Given the description of an element on the screen output the (x, y) to click on. 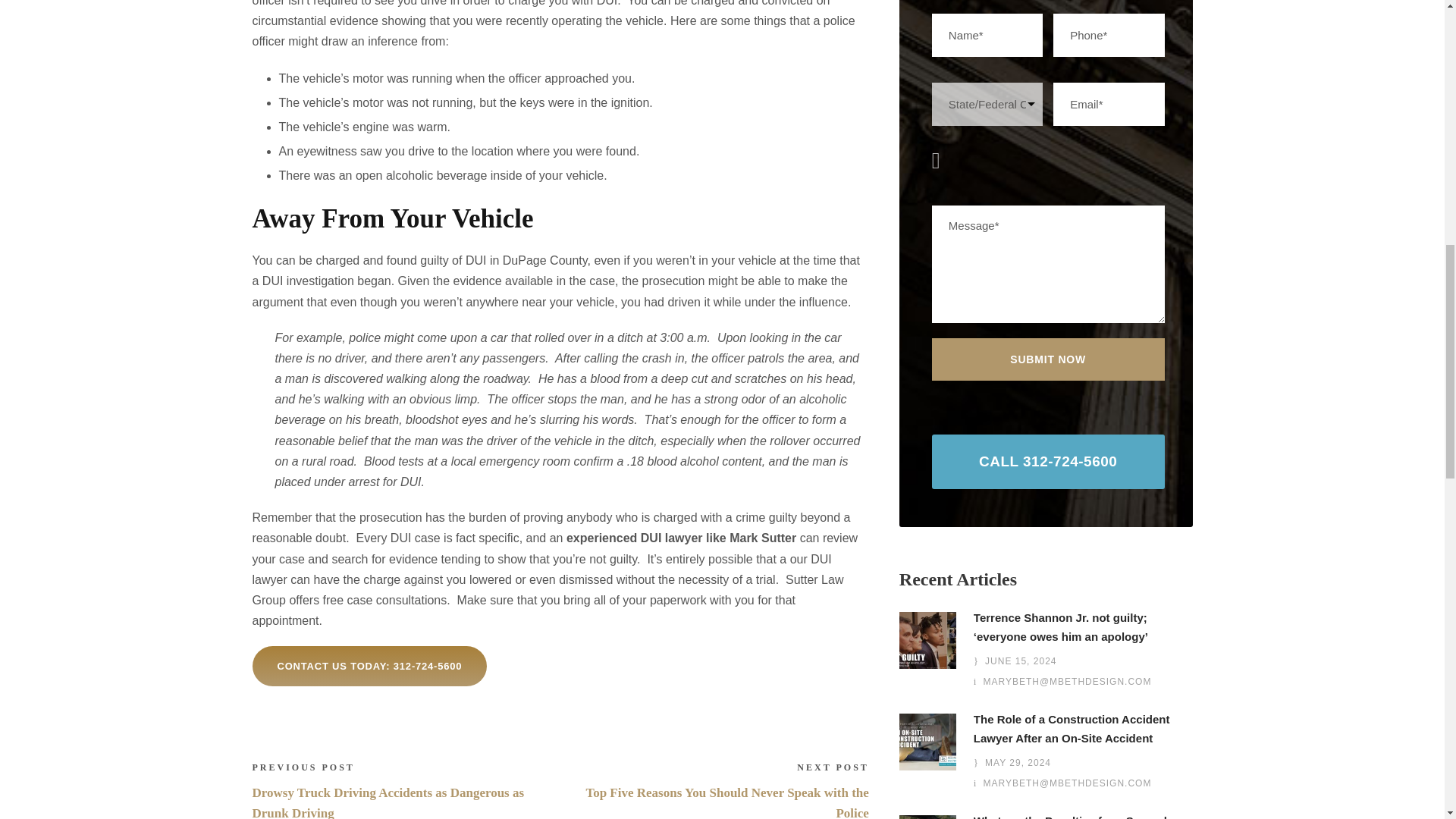
Submit Now (1047, 359)
